Given the description of an element on the screen output the (x, y) to click on. 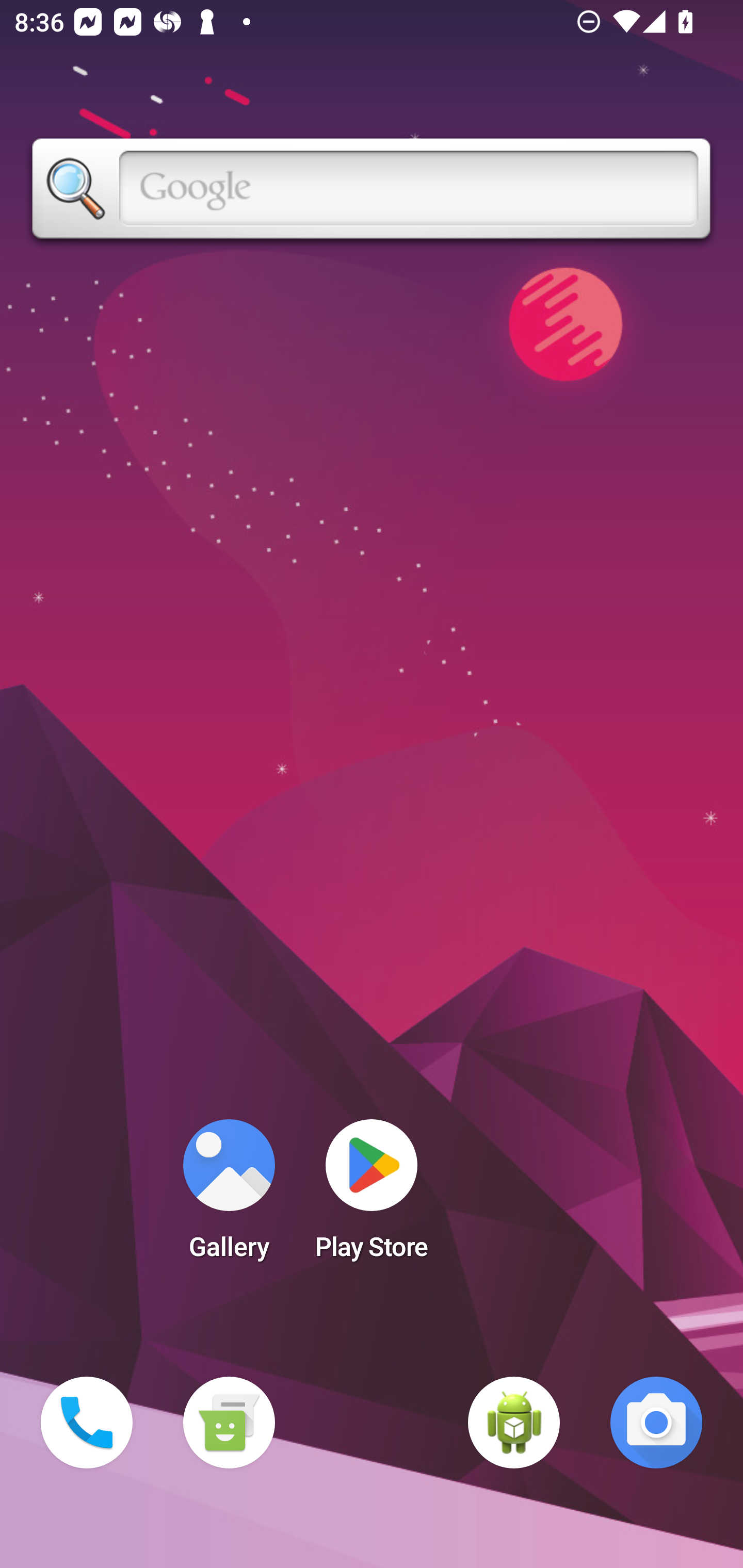
Gallery (228, 1195)
Play Store (371, 1195)
Phone (86, 1422)
Messaging (228, 1422)
WebView Browser Tester (513, 1422)
Camera (656, 1422)
